Given the description of an element on the screen output the (x, y) to click on. 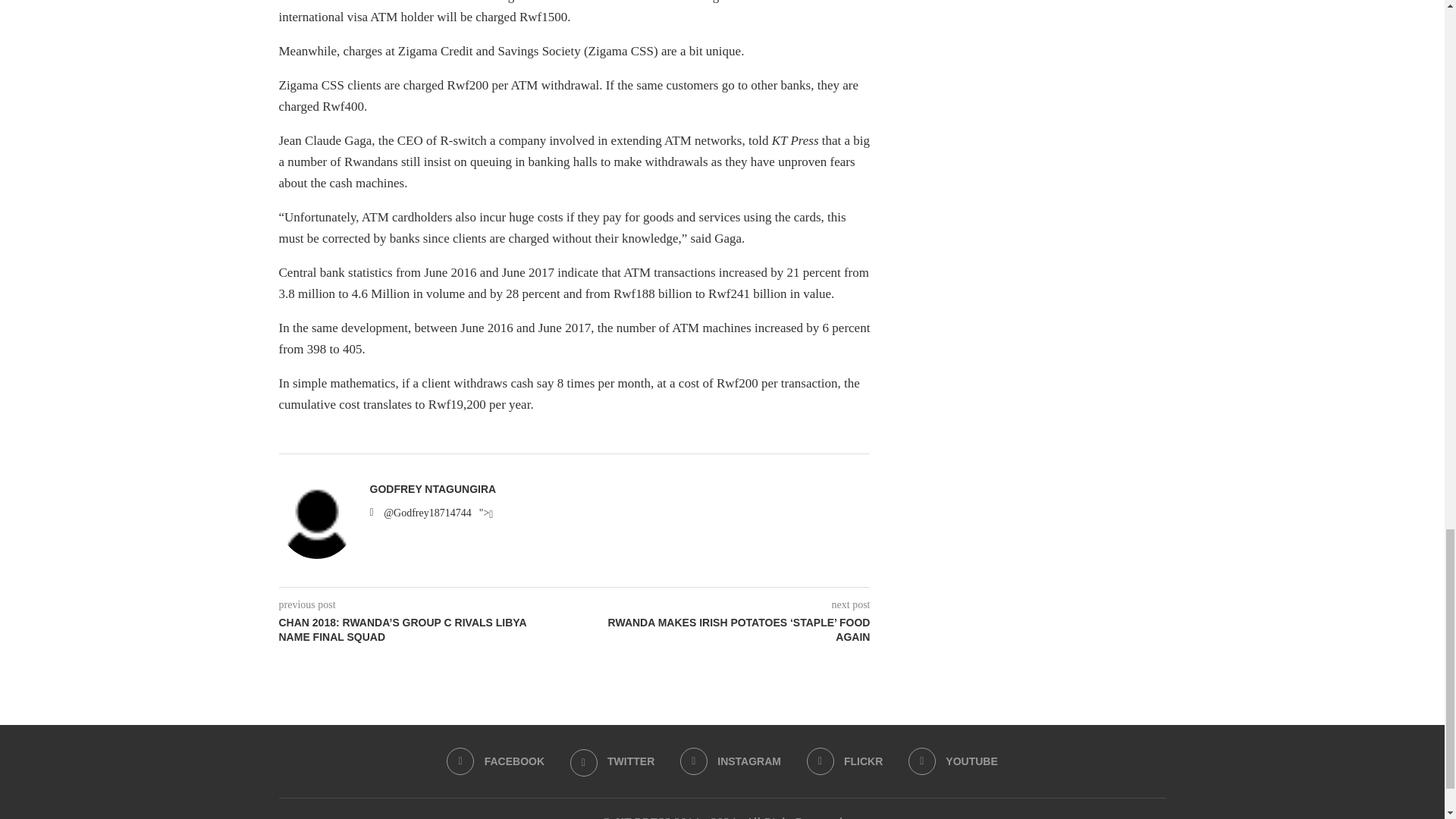
Author Godfrey Ntagungira (432, 489)
GODFREY NTAGUNGIRA (432, 489)
